Given the description of an element on the screen output the (x, y) to click on. 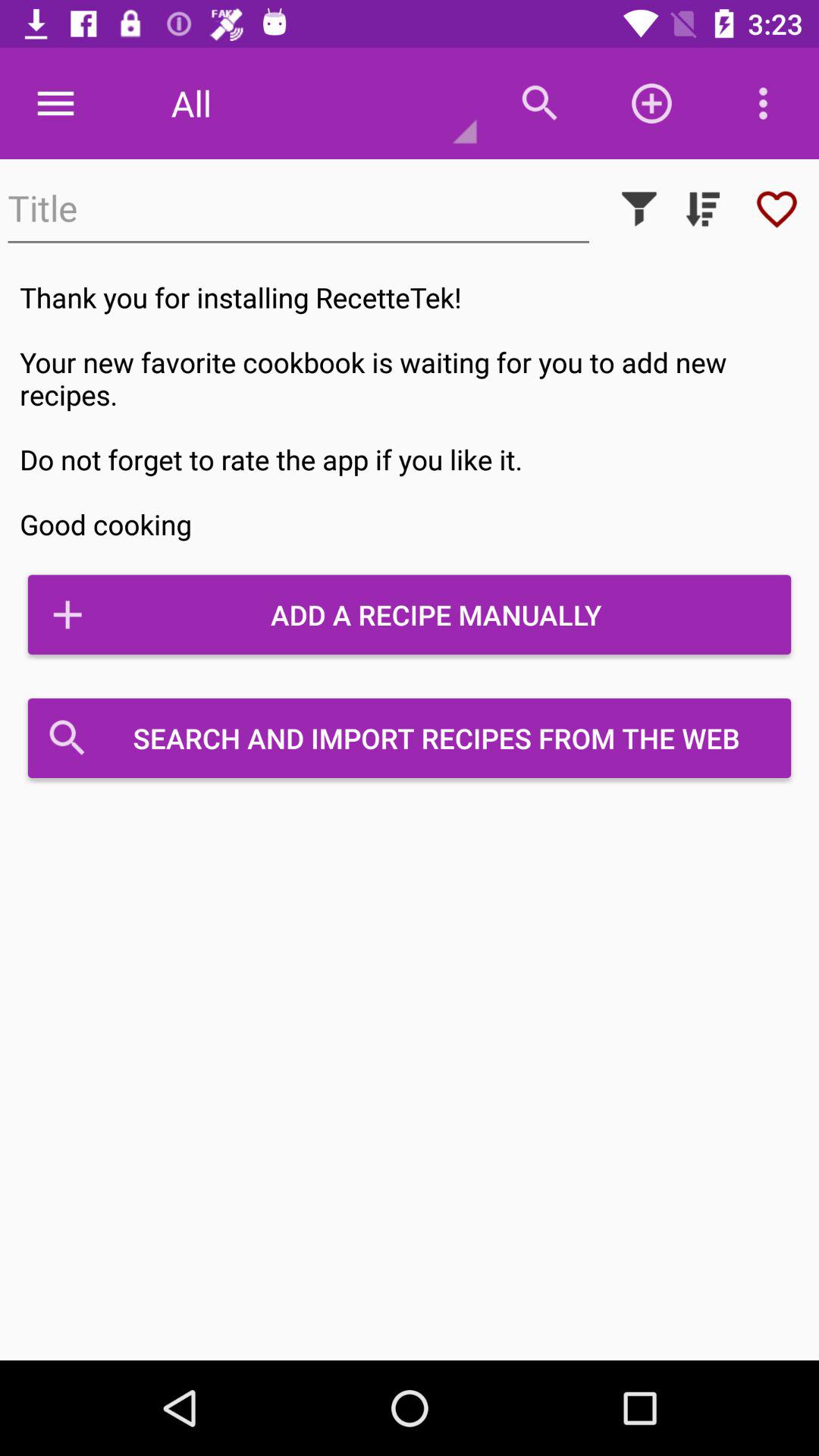
like it (776, 208)
